Given the description of an element on the screen output the (x, y) to click on. 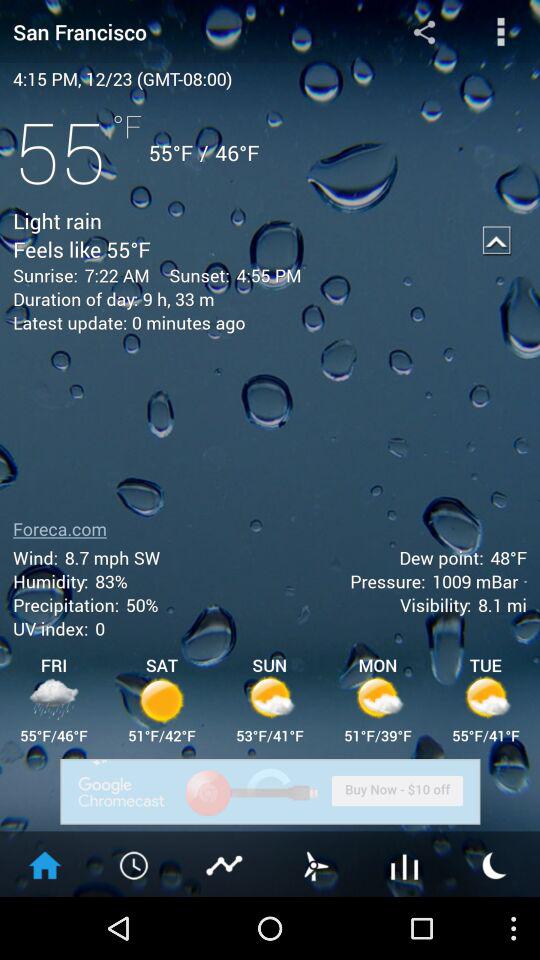
collapse details (497, 240)
